Given the description of an element on the screen output the (x, y) to click on. 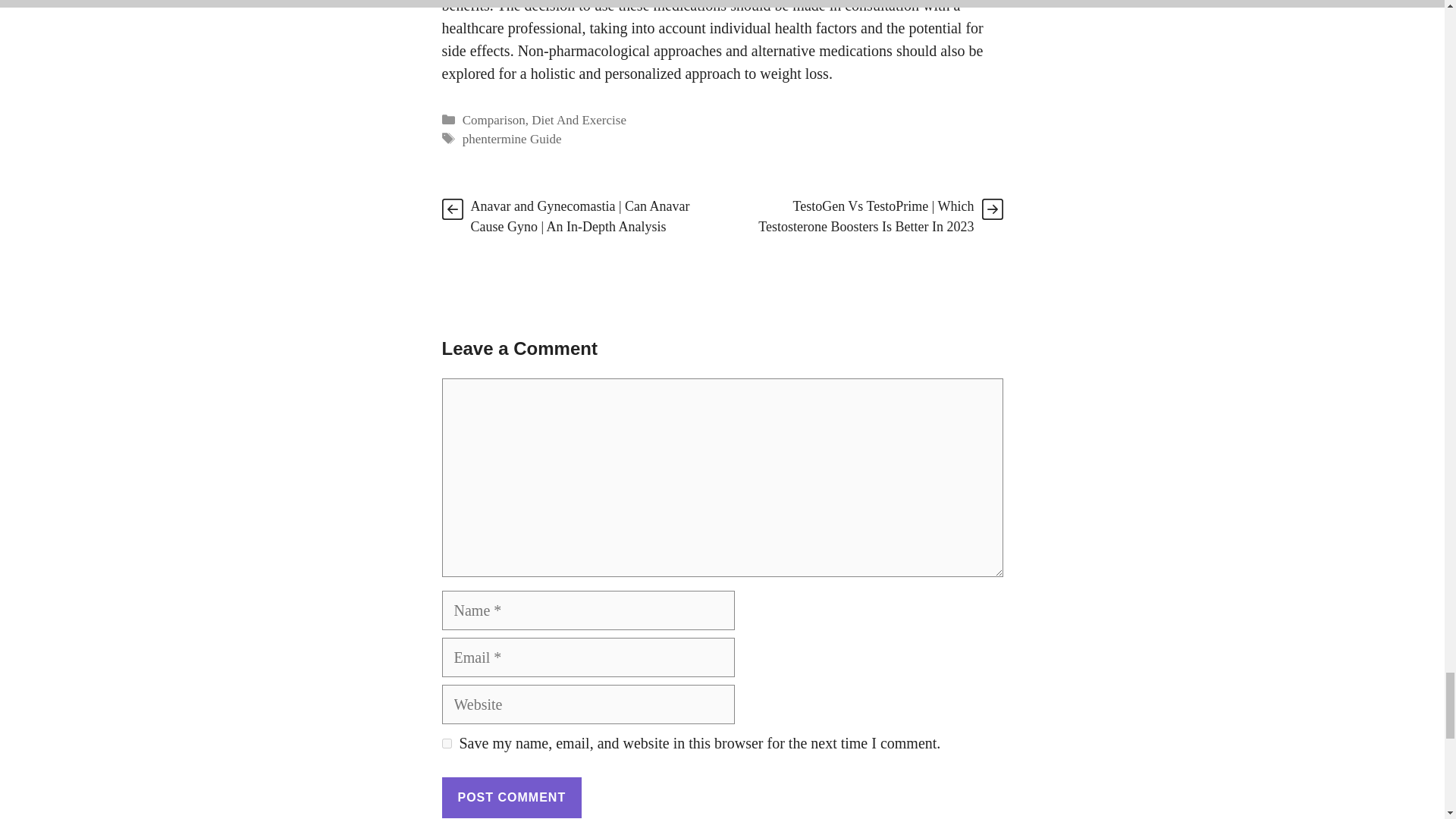
phentermine Guide (512, 138)
Diet And Exercise (578, 120)
Comparison (494, 120)
Post Comment (510, 797)
yes (446, 743)
Post Comment (510, 797)
